Given the description of an element on the screen output the (x, y) to click on. 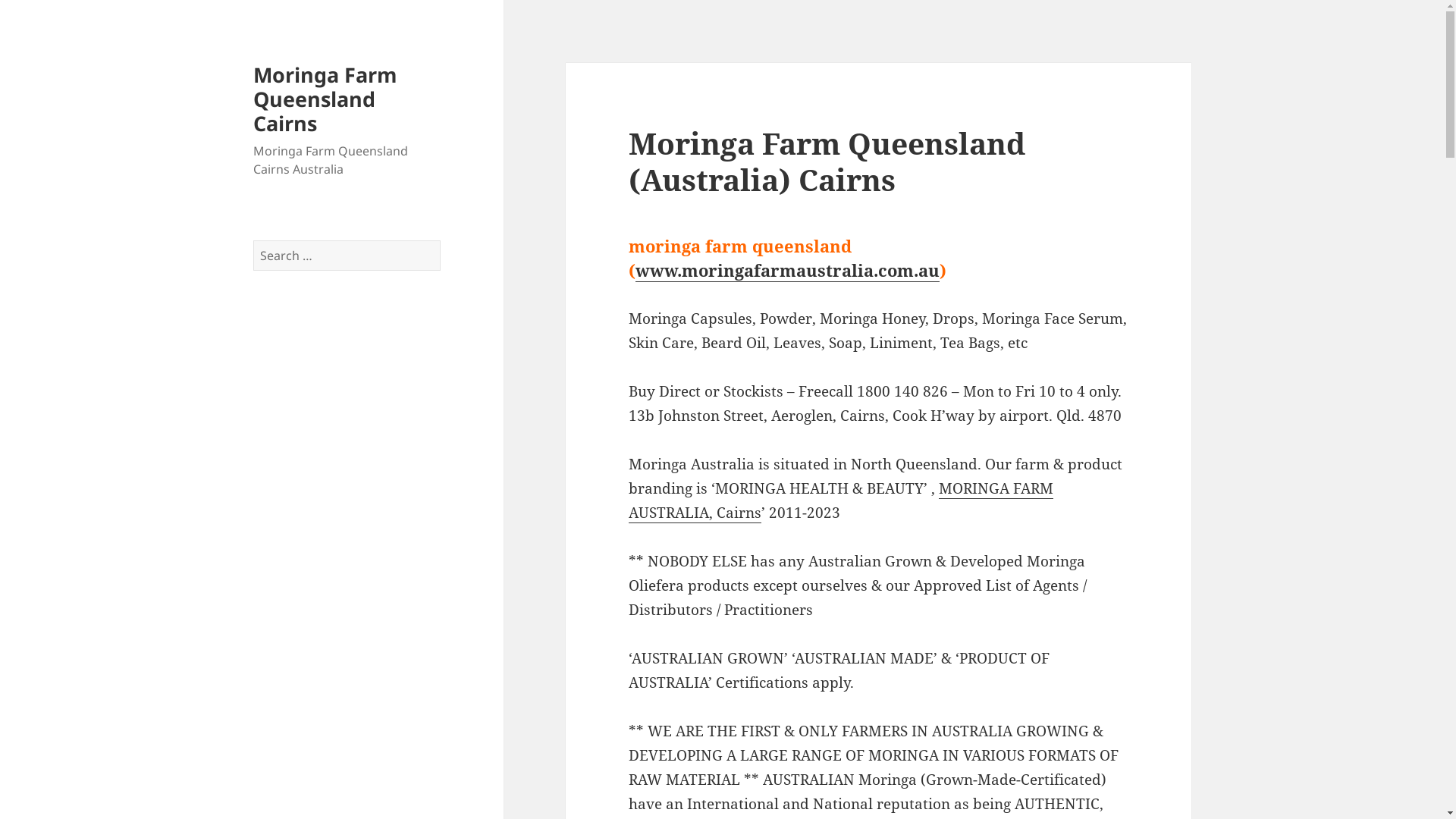
Search Element type: text (439, 239)
MORINGA FARM AUSTRALIA, Cairns Element type: text (840, 500)
Moringa Farm Queensland Cairns Element type: text (325, 98)
www.moringafarmaustralia.com.au Element type: text (787, 270)
